Given the description of an element on the screen output the (x, y) to click on. 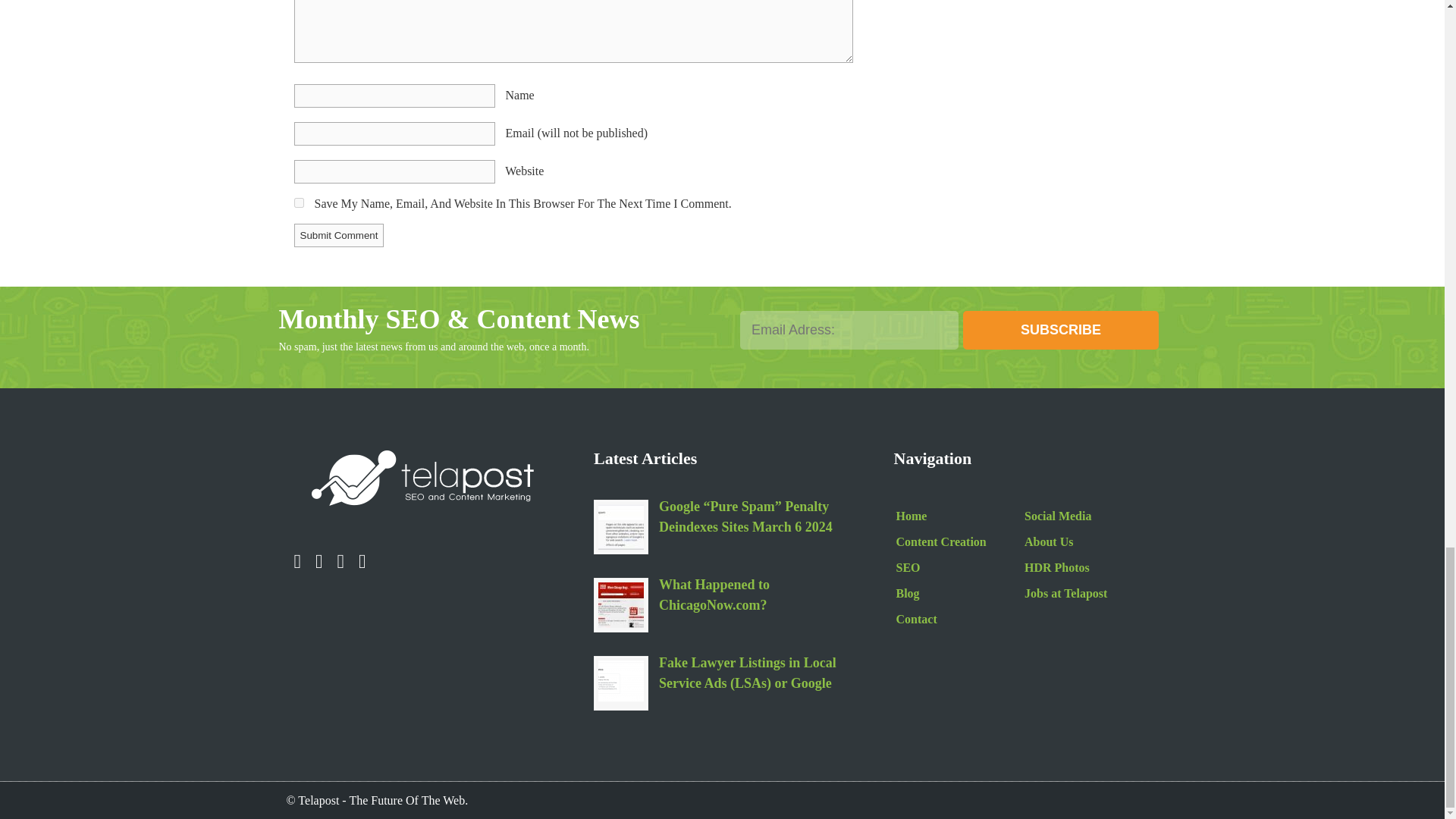
yes (299, 203)
Submit Comment (339, 235)
Subscribe (1060, 330)
Submit Comment (339, 235)
What Happened to ChicagoNow.com? (754, 596)
What Happened to ChicagoNow.com? (620, 605)
